Given the description of an element on the screen output the (x, y) to click on. 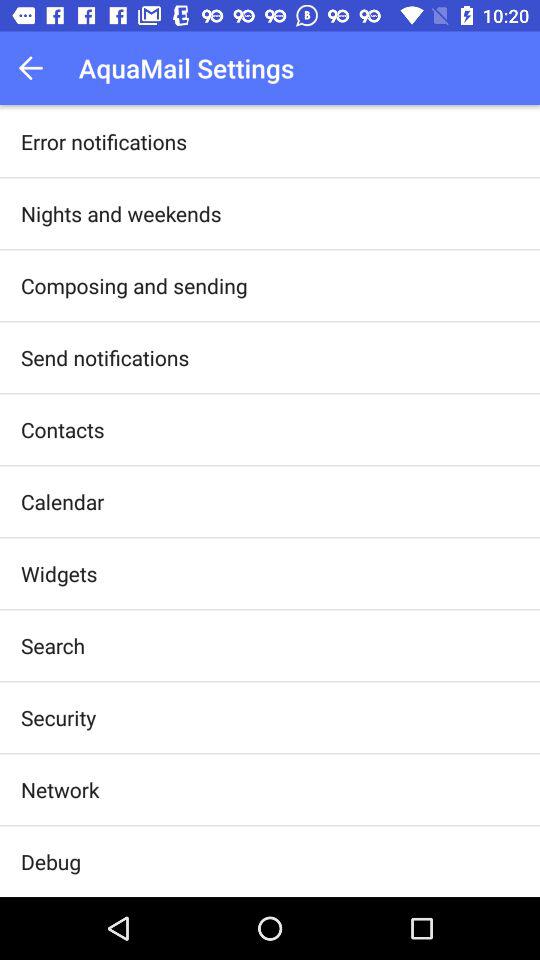
press the app next to the aquamail settings item (36, 68)
